Given the description of an element on the screen output the (x, y) to click on. 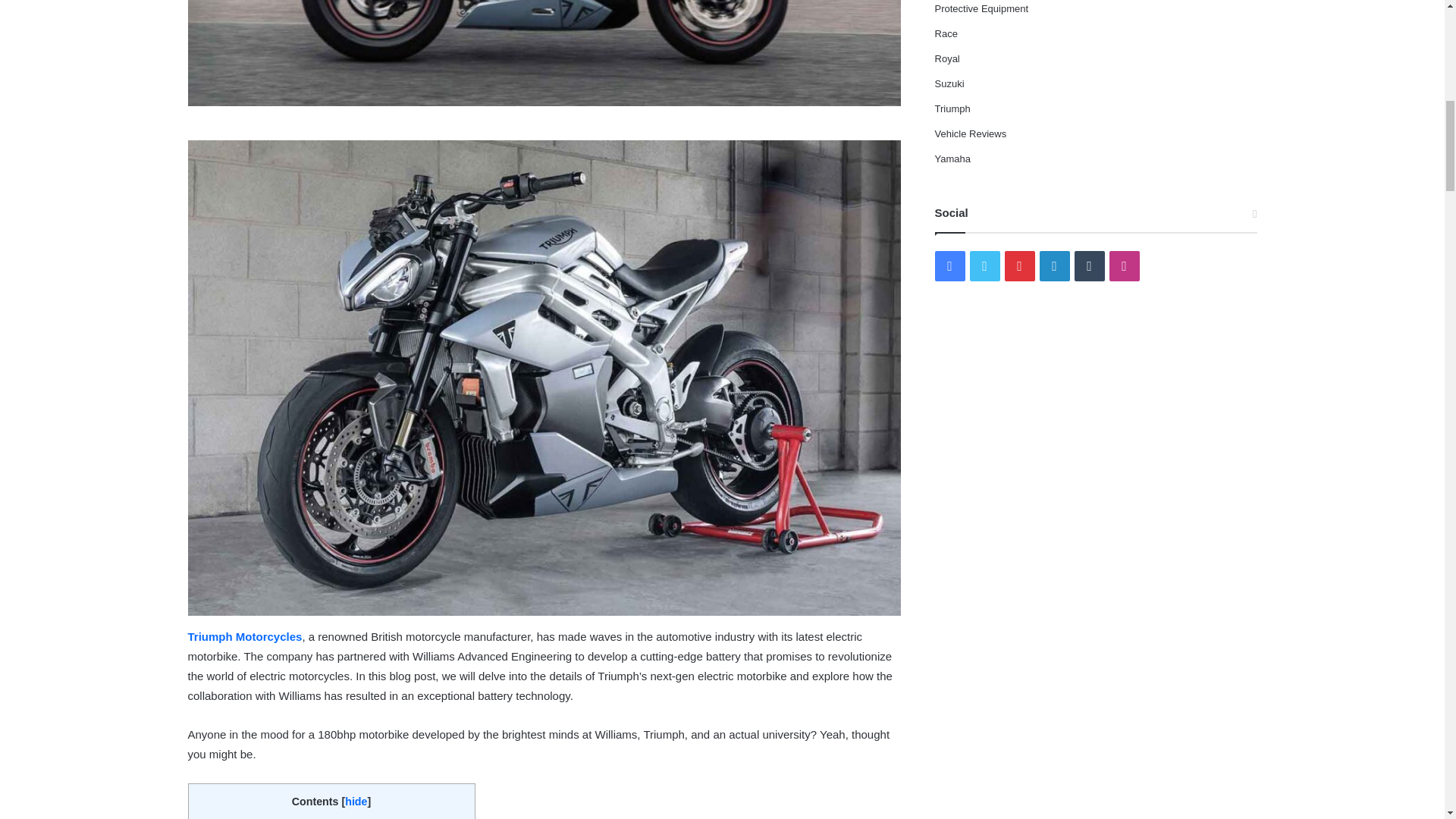
Triumph Motorcycles (244, 635)
hide (355, 801)
